Given the description of an element on the screen output the (x, y) to click on. 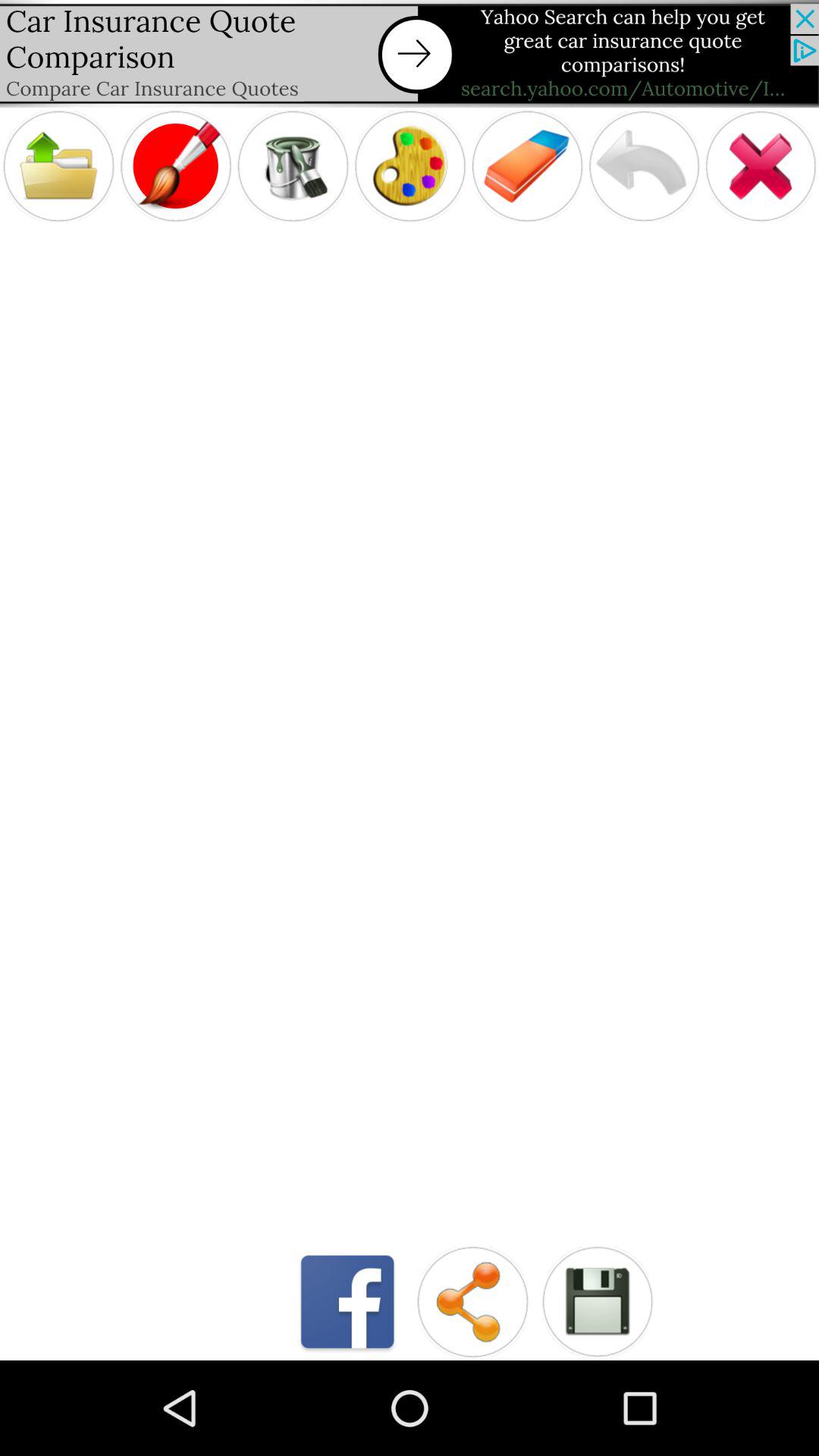
facebook button (347, 1301)
